Given the description of an element on the screen output the (x, y) to click on. 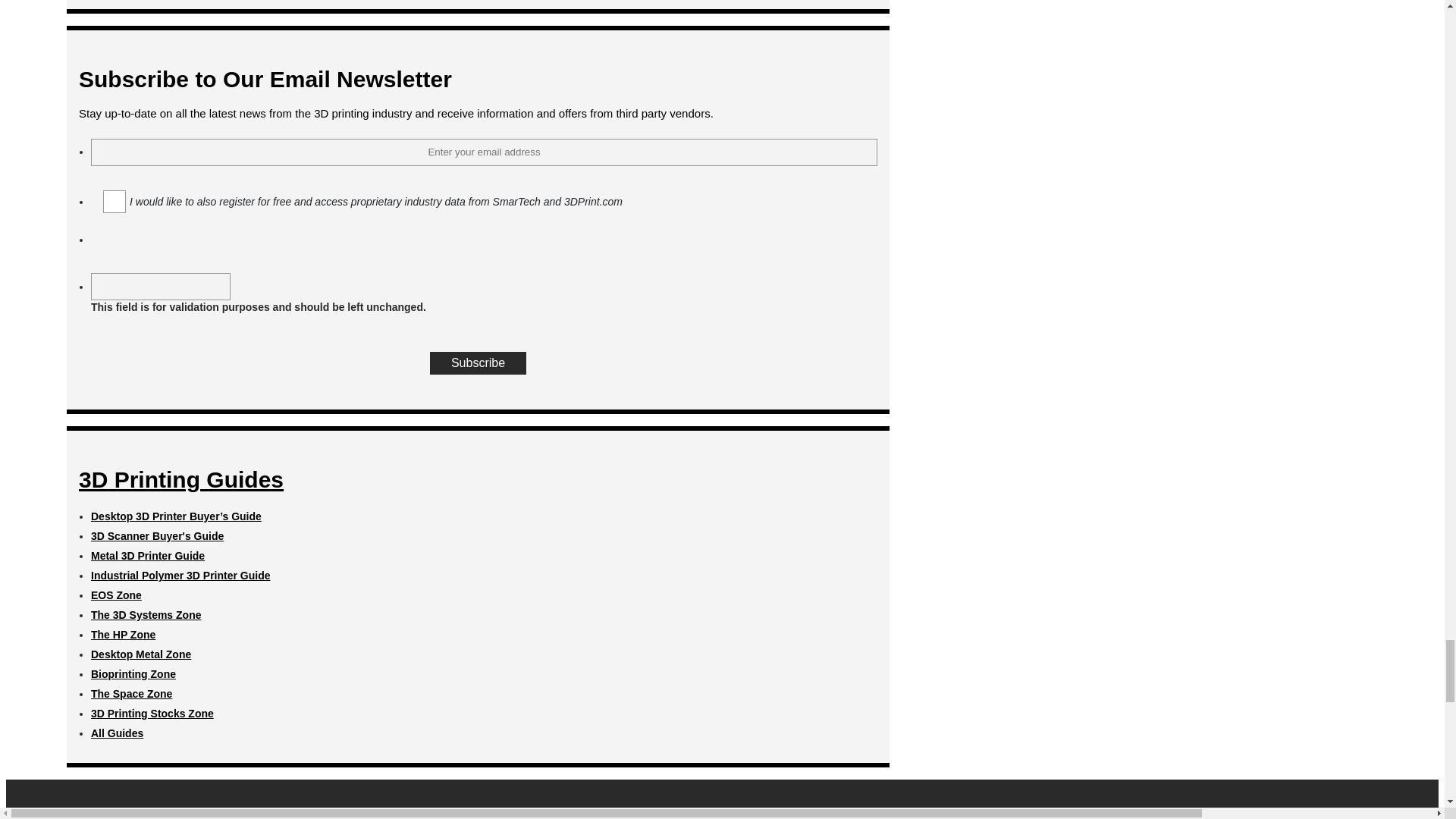
Subscribe (477, 363)
